Given the description of an element on the screen output the (x, y) to click on. 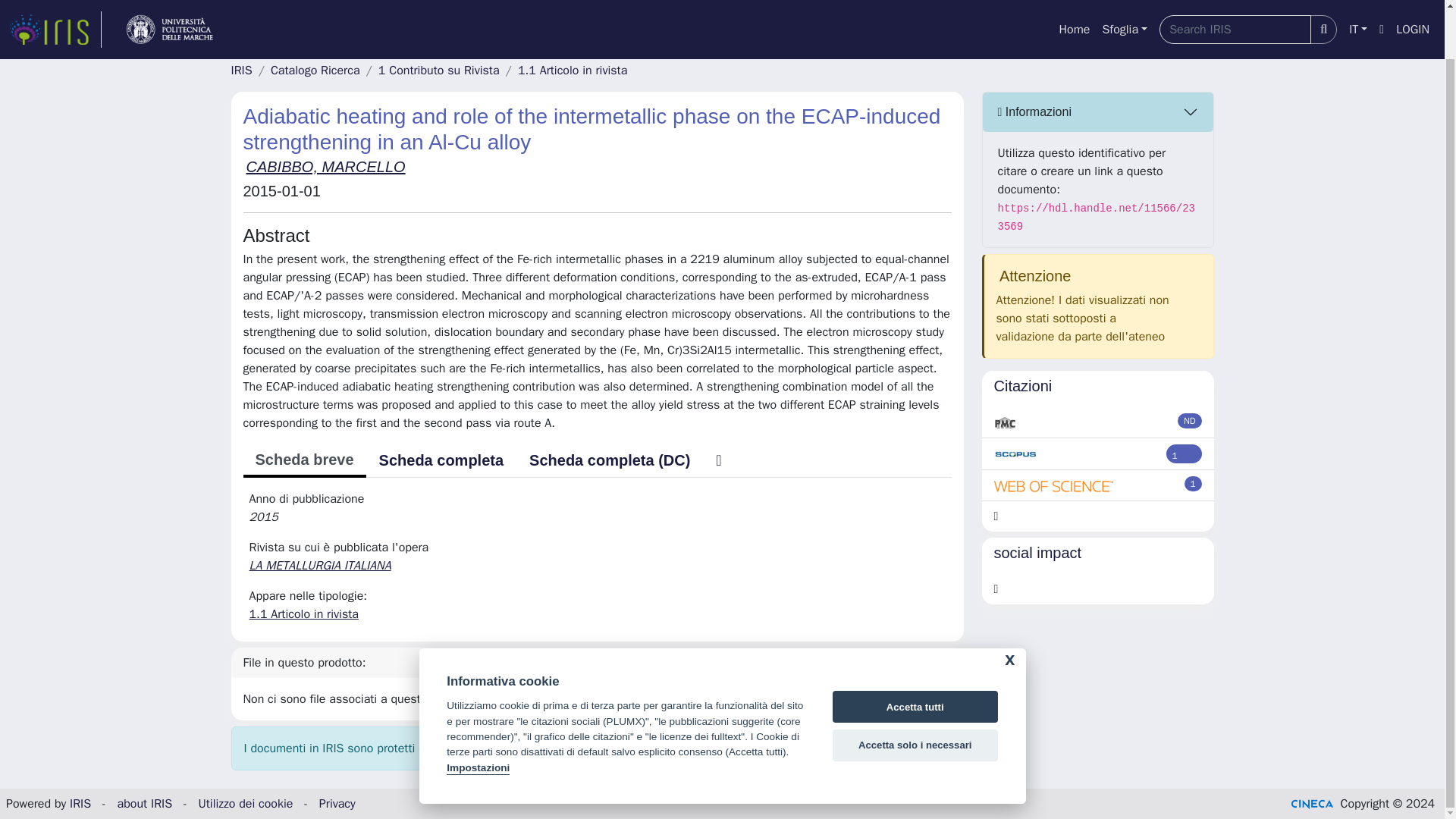
1 Contributo su Rivista (438, 70)
CABIBBO, MARCELLO (325, 166)
1.1 Articolo in rivista (572, 70)
1.1 Articolo in rivista (303, 613)
 Informazioni (1097, 111)
IRIS (240, 70)
IRIS (79, 803)
LA METALLURGIA ITALIANA (320, 565)
Scheda completa (441, 459)
Catalogo Ricerca (314, 70)
Scheda breve (304, 460)
